Given the description of an element on the screen output the (x, y) to click on. 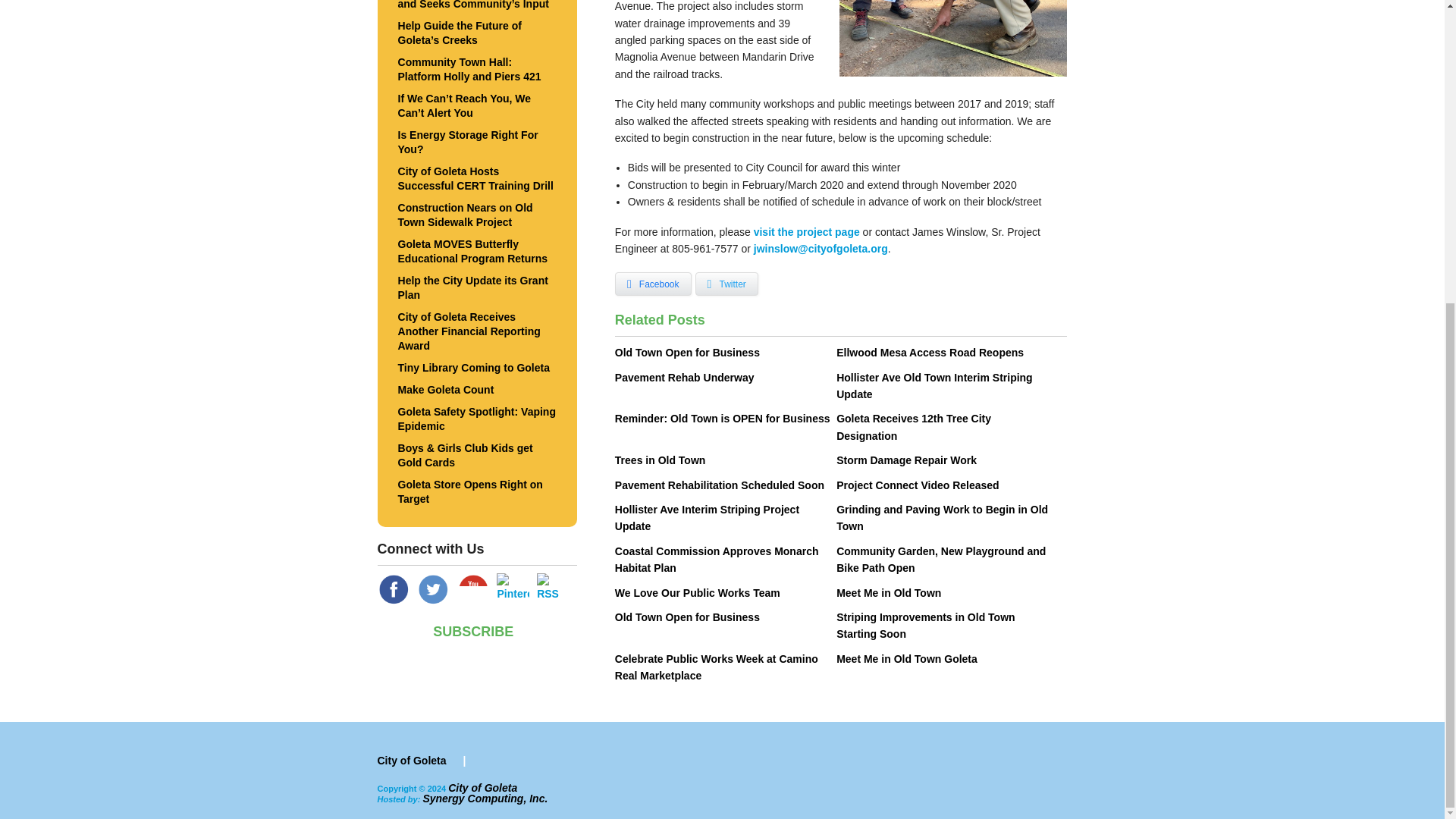
Share this article on Twitter (726, 283)
Share this article on Facebook (652, 283)
